Given the description of an element on the screen output the (x, y) to click on. 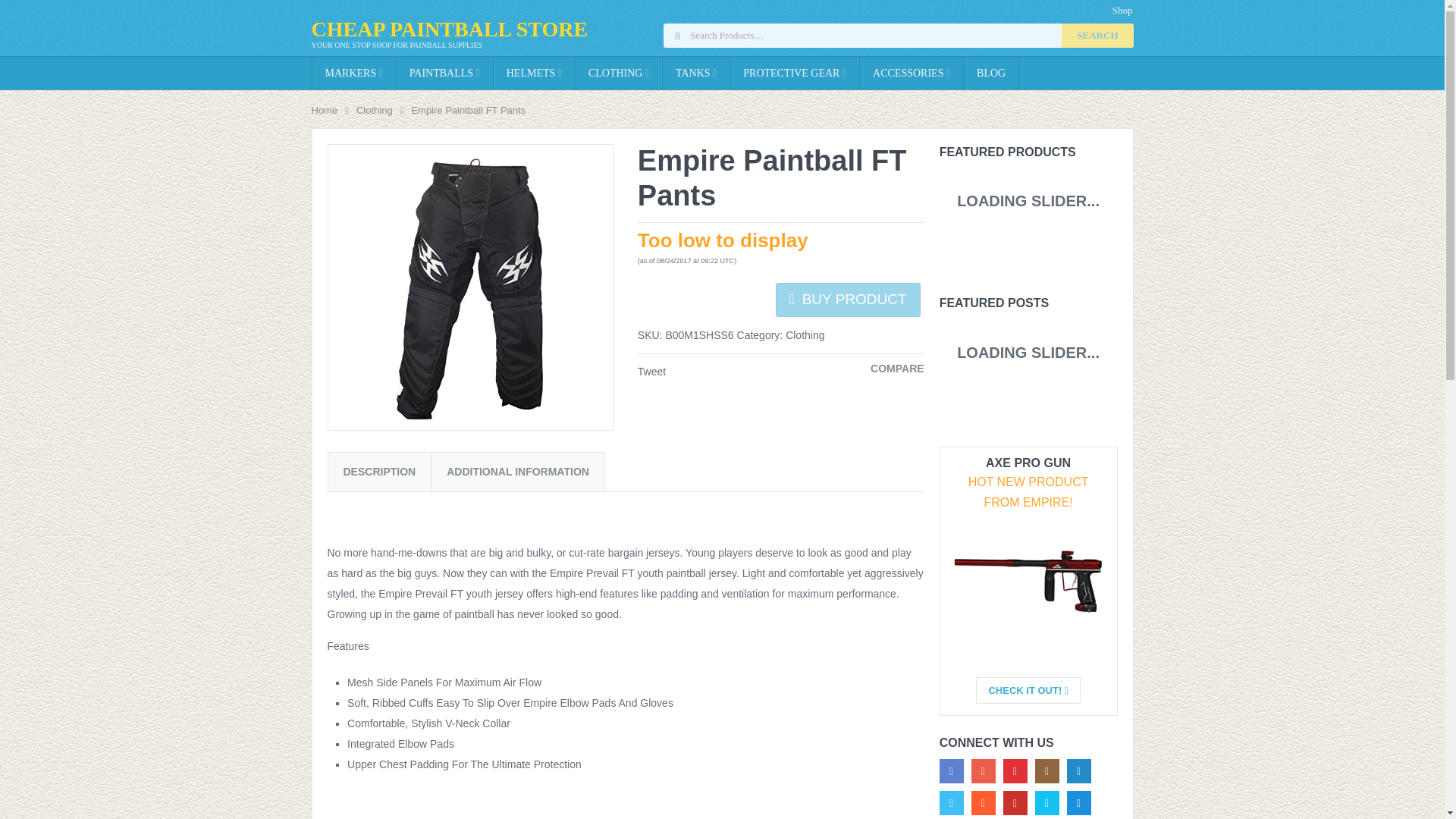
PAINTBALLS (444, 73)
CHEAP PAINTBALL STORE (449, 29)
Empire Paintball FT Pants (470, 287)
BUY PRODUCT (848, 299)
PROTECTIVE GEAR (794, 73)
Shop (1123, 9)
COMPARE (897, 368)
MARKERS (354, 73)
Tweet (651, 371)
Home (324, 110)
